Given the description of an element on the screen output the (x, y) to click on. 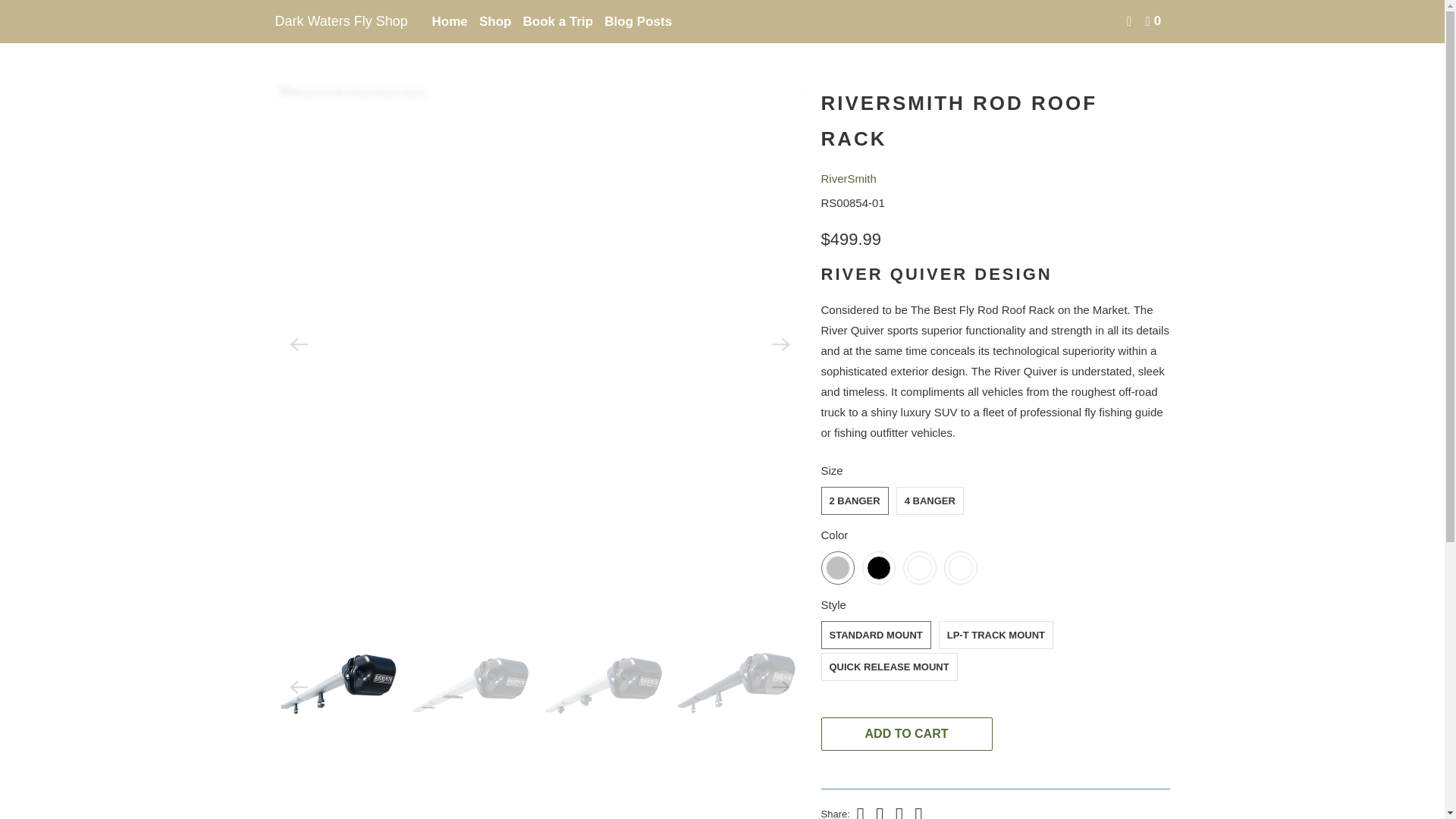
Home (288, 30)
0 (1154, 21)
Shop (495, 21)
Book a Trip (557, 21)
Dark Waters Fly Shop (288, 30)
Dark Waters Fly Shop (342, 21)
Dark Waters Fly Shop (342, 21)
Home (449, 21)
Products (333, 30)
